Given the description of an element on the screen output the (x, y) to click on. 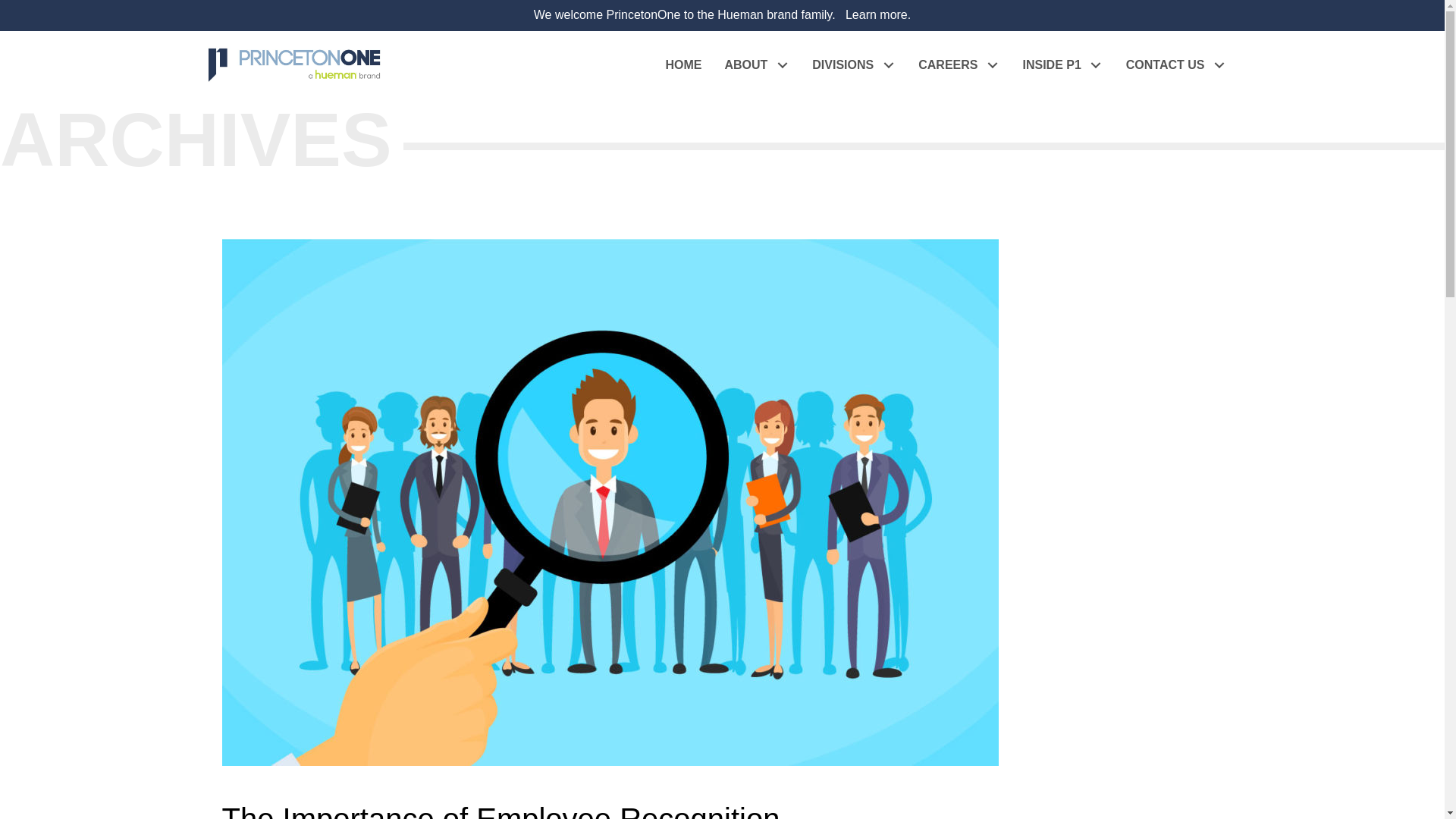
ABOUT (756, 64)
HOME (683, 64)
DIVISIONS (853, 64)
CONTACT US (1177, 64)
CAREERS (958, 64)
INSIDE P1 (1061, 64)
